Given the description of an element on the screen output the (x, y) to click on. 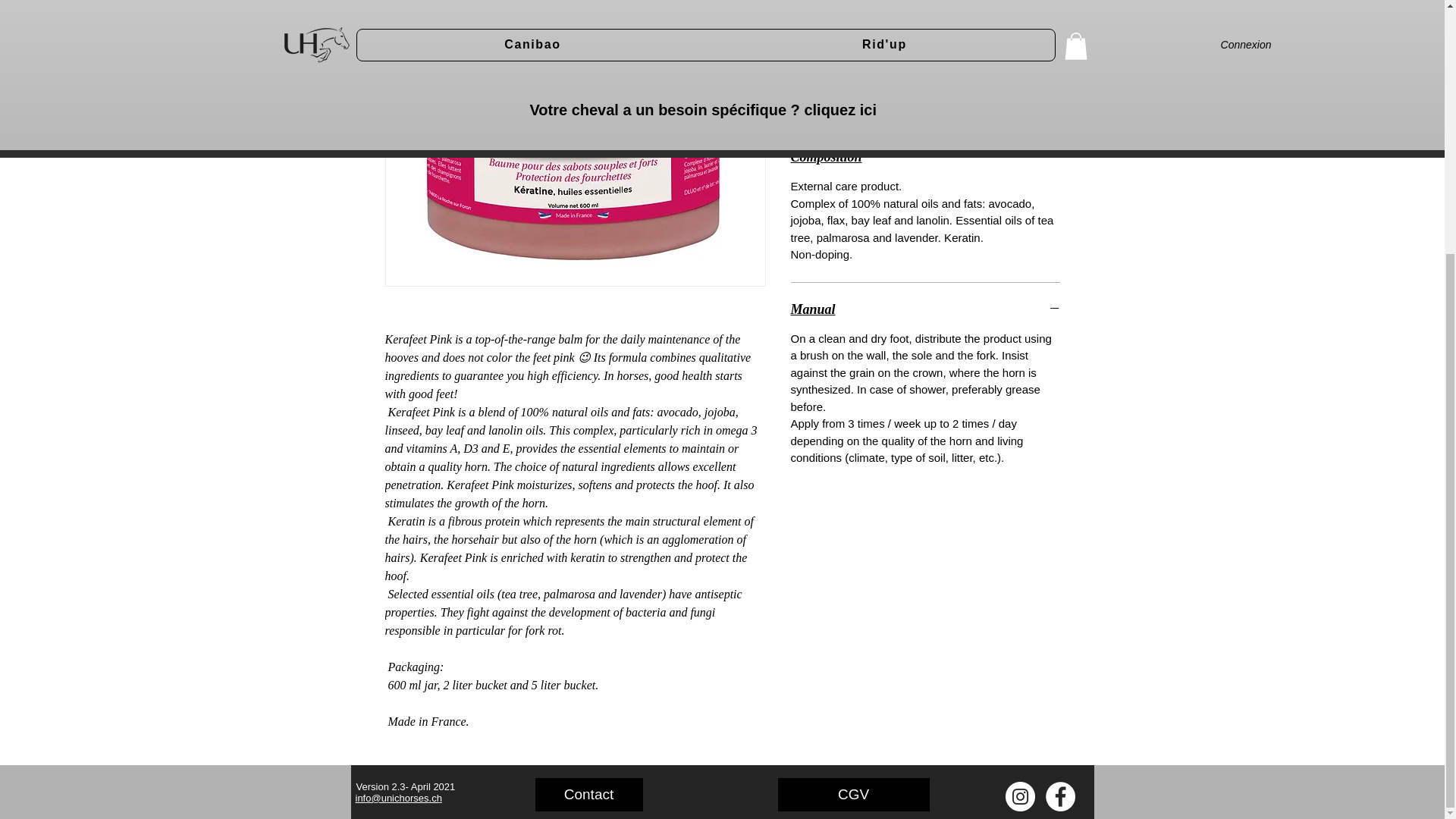
Contact (589, 435)
1 (818, 9)
Buy Now (924, 96)
Composition (924, 156)
Add to Cart (924, 57)
CGV (853, 435)
Manual (924, 309)
